Given the description of an element on the screen output the (x, y) to click on. 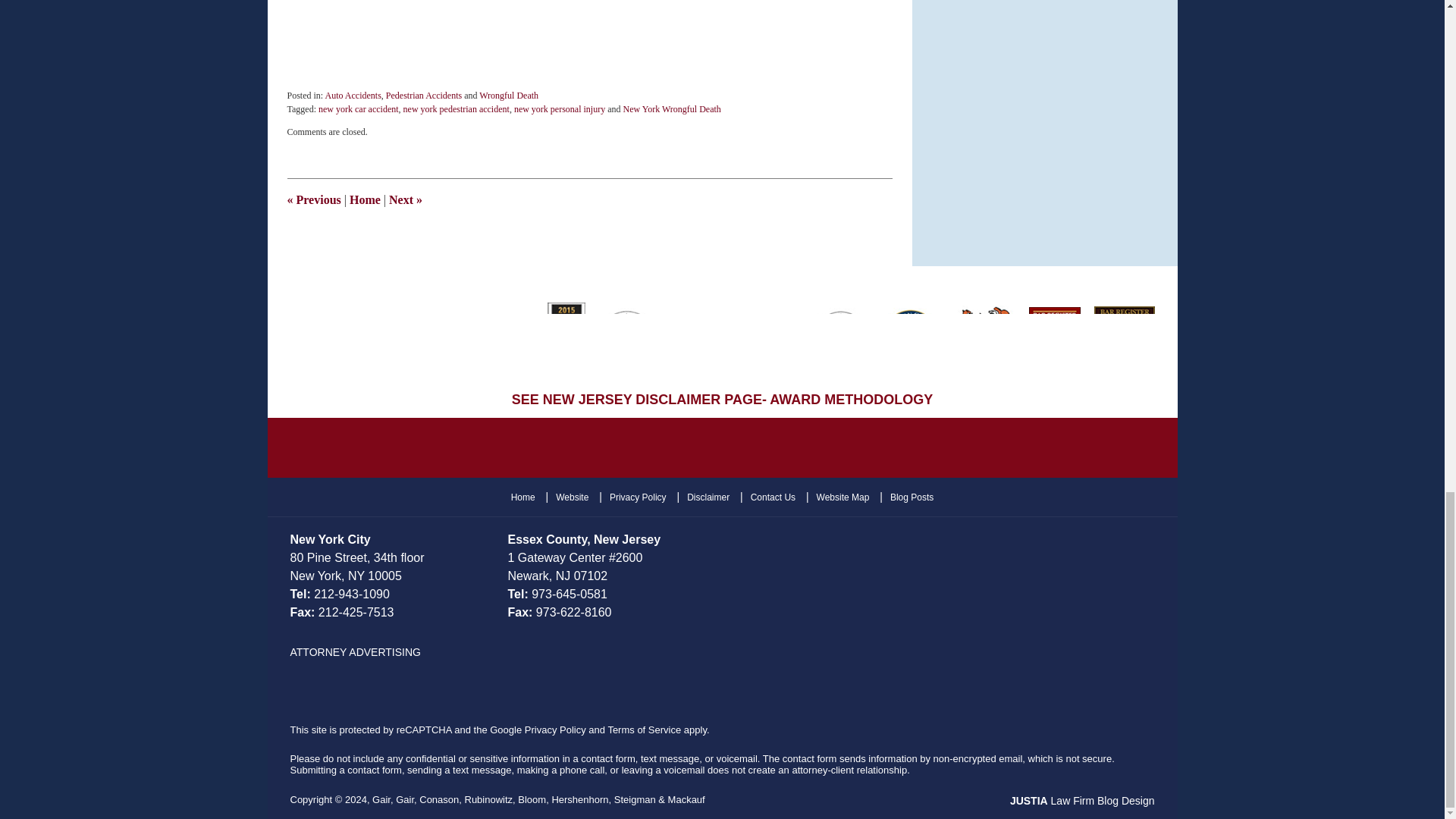
View all posts tagged with new york car accident (358, 109)
New York Wrongful Death (671, 109)
Wrongful Death (508, 95)
View all posts tagged with new york personal injury (559, 109)
Auto Accidents (352, 95)
View all posts tagged with New York Wrongful Death (671, 109)
new york car accident (358, 109)
Pedestrian Accidents (423, 95)
View all posts tagged with new york pedestrian accident (456, 109)
new york personal injury (559, 109)
new york pedestrian accident (456, 109)
View all posts in Wrongful Death (508, 95)
Home (364, 199)
